Given the description of an element on the screen output the (x, y) to click on. 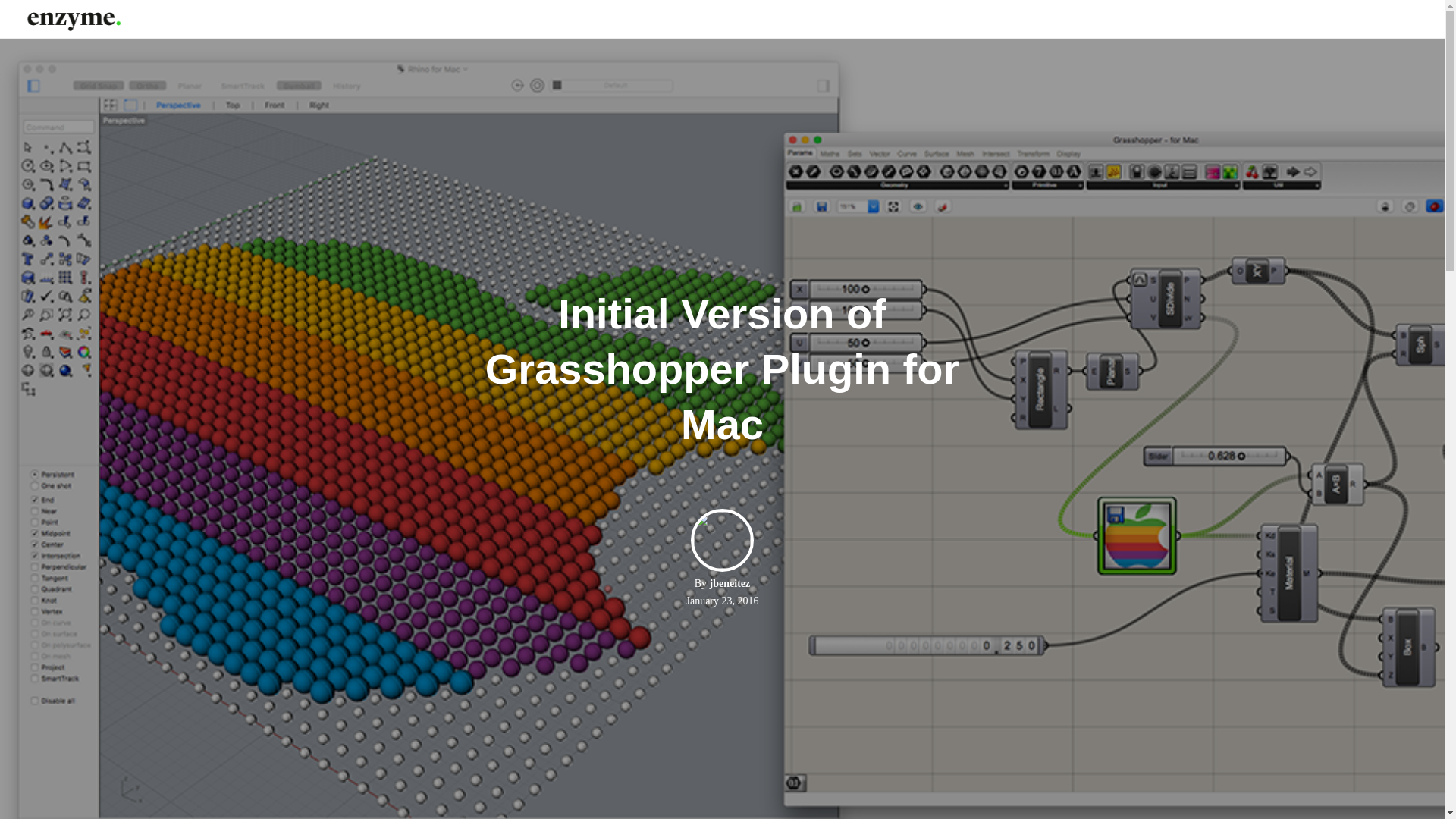
jbeneitez (730, 583)
January 23, 2016 (721, 600)
Enzyme APD Blog (73, 18)
